Given the description of an element on the screen output the (x, y) to click on. 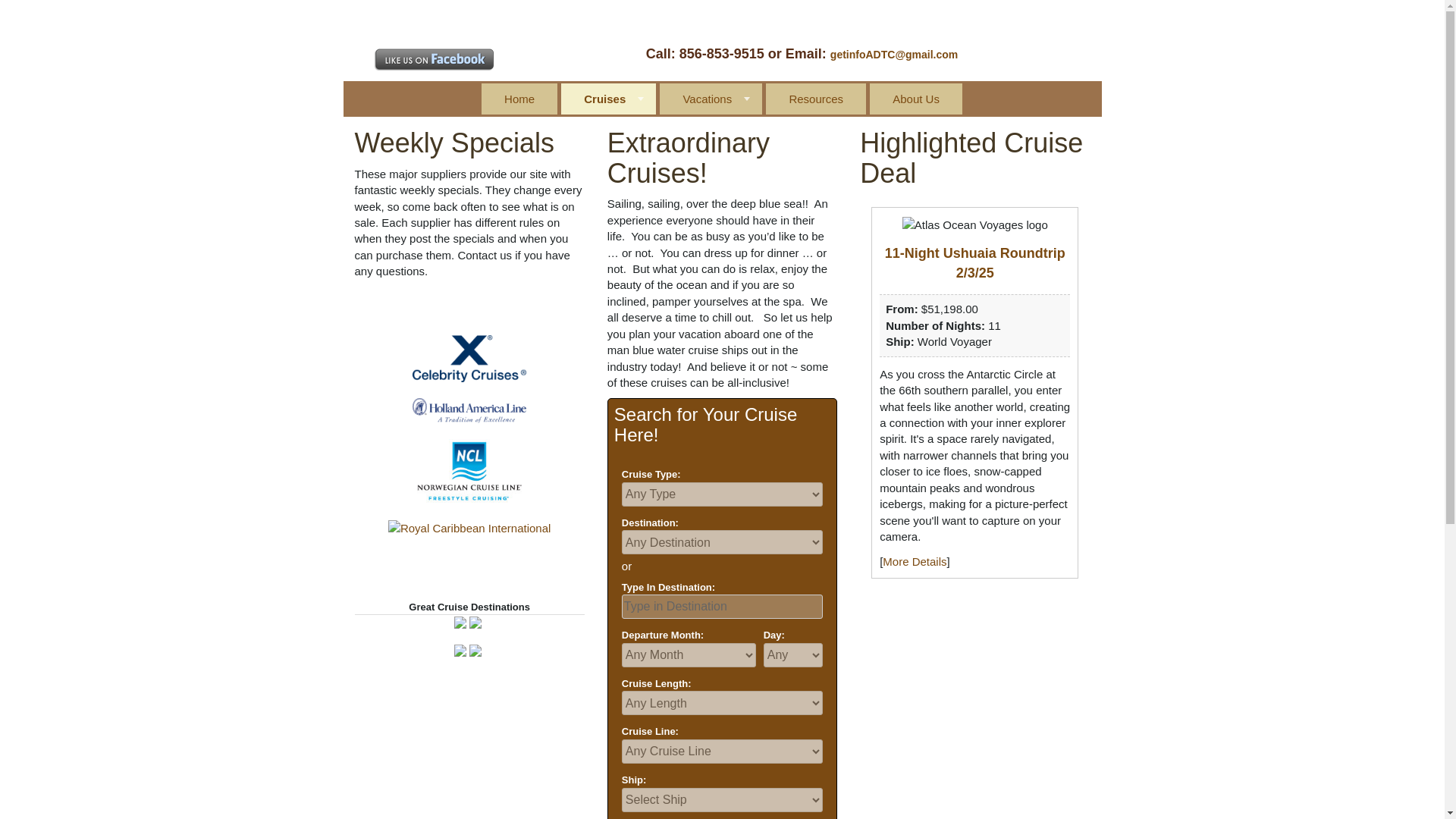
Resources (815, 99)
Vacations (706, 99)
Home (519, 99)
Cruises (603, 99)
Advanced Search (666, 818)
About Us (915, 99)
